Given the description of an element on the screen output the (x, y) to click on. 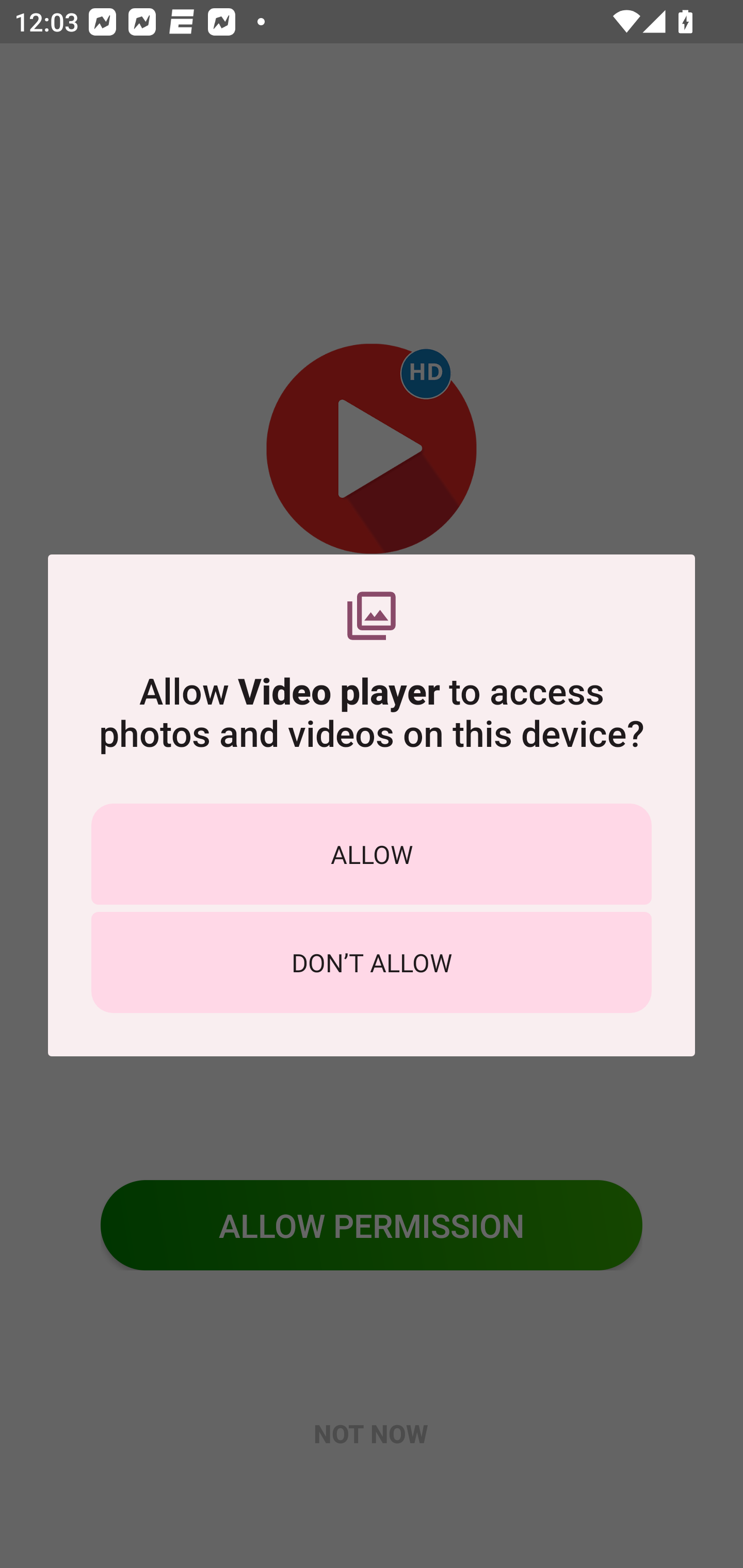
ALLOW (371, 853)
DON’T ALLOW (371, 962)
